Given the description of an element on the screen output the (x, y) to click on. 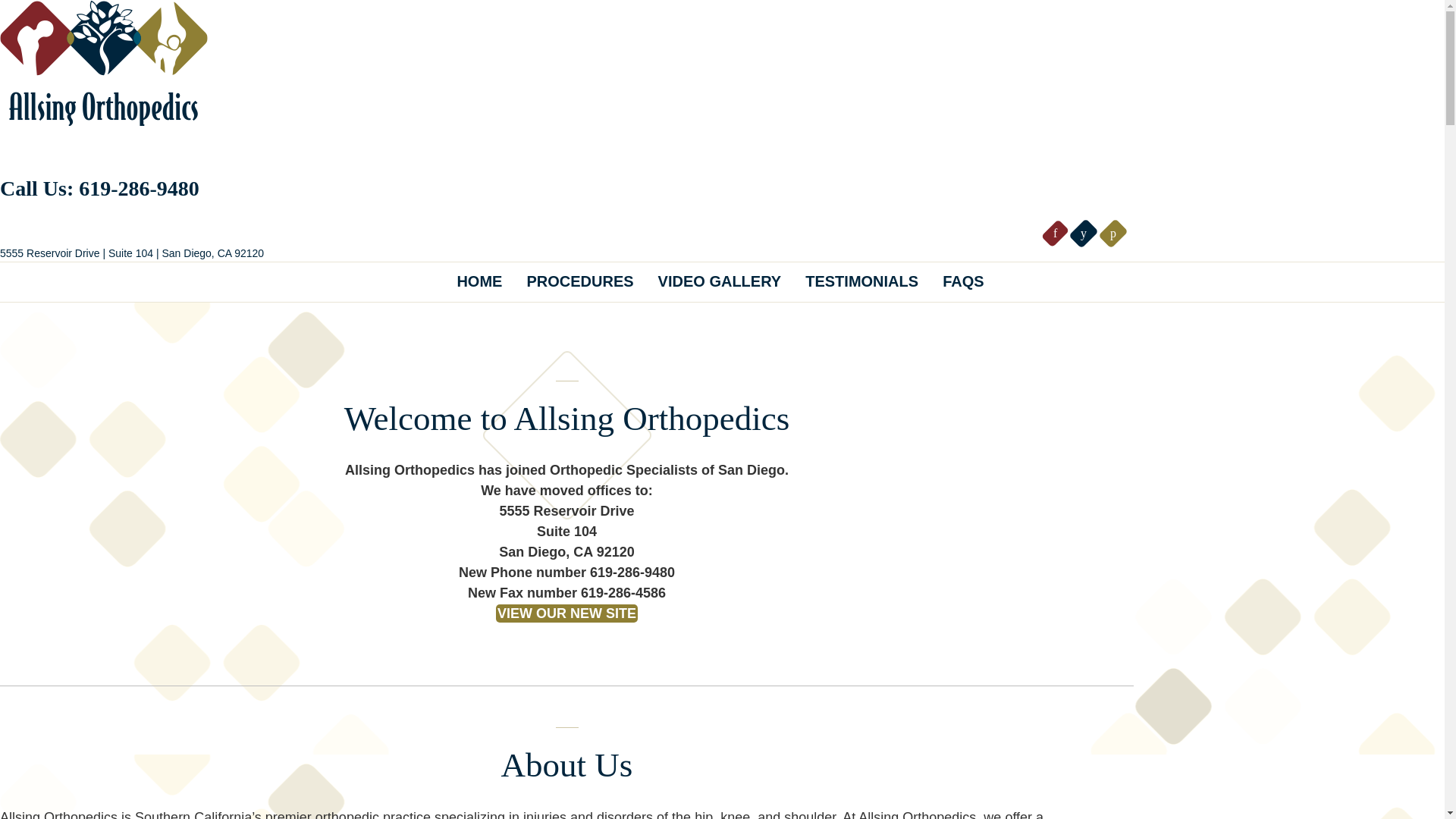
VIDEO GALLERY (719, 281)
HOME (478, 281)
Orthopedic Surgeons San Diego (104, 63)
TESTIMONIALS (861, 281)
PROCEDURES (579, 281)
FAQS (962, 281)
VIEW OUR NEW SITE (566, 613)
Call Us: 619-286-9480 (99, 187)
